Given the description of an element on the screen output the (x, y) to click on. 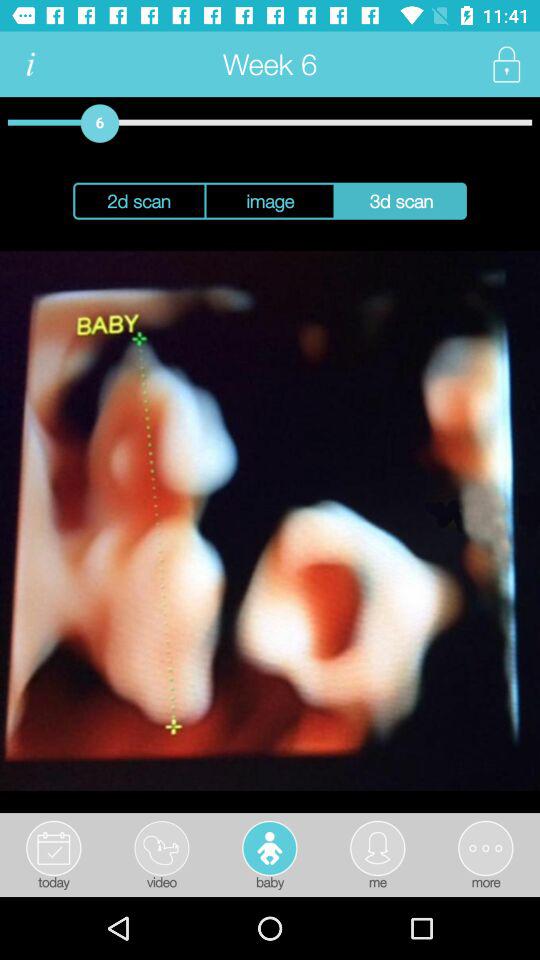
lock selection (506, 63)
